Given the description of an element on the screen output the (x, y) to click on. 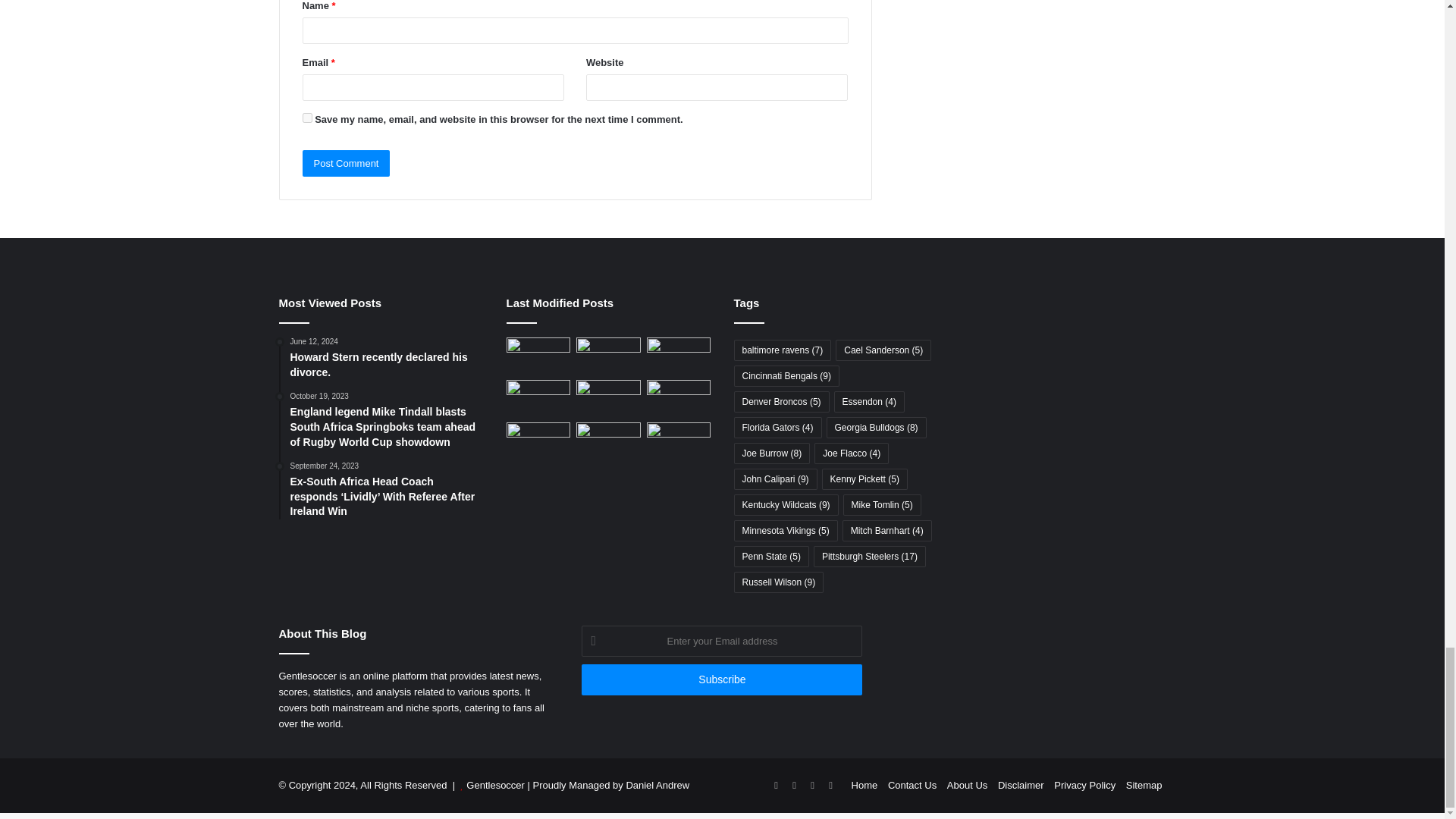
Post Comment (345, 162)
yes (306, 117)
Subscribe (720, 679)
